Given the description of an element on the screen output the (x, y) to click on. 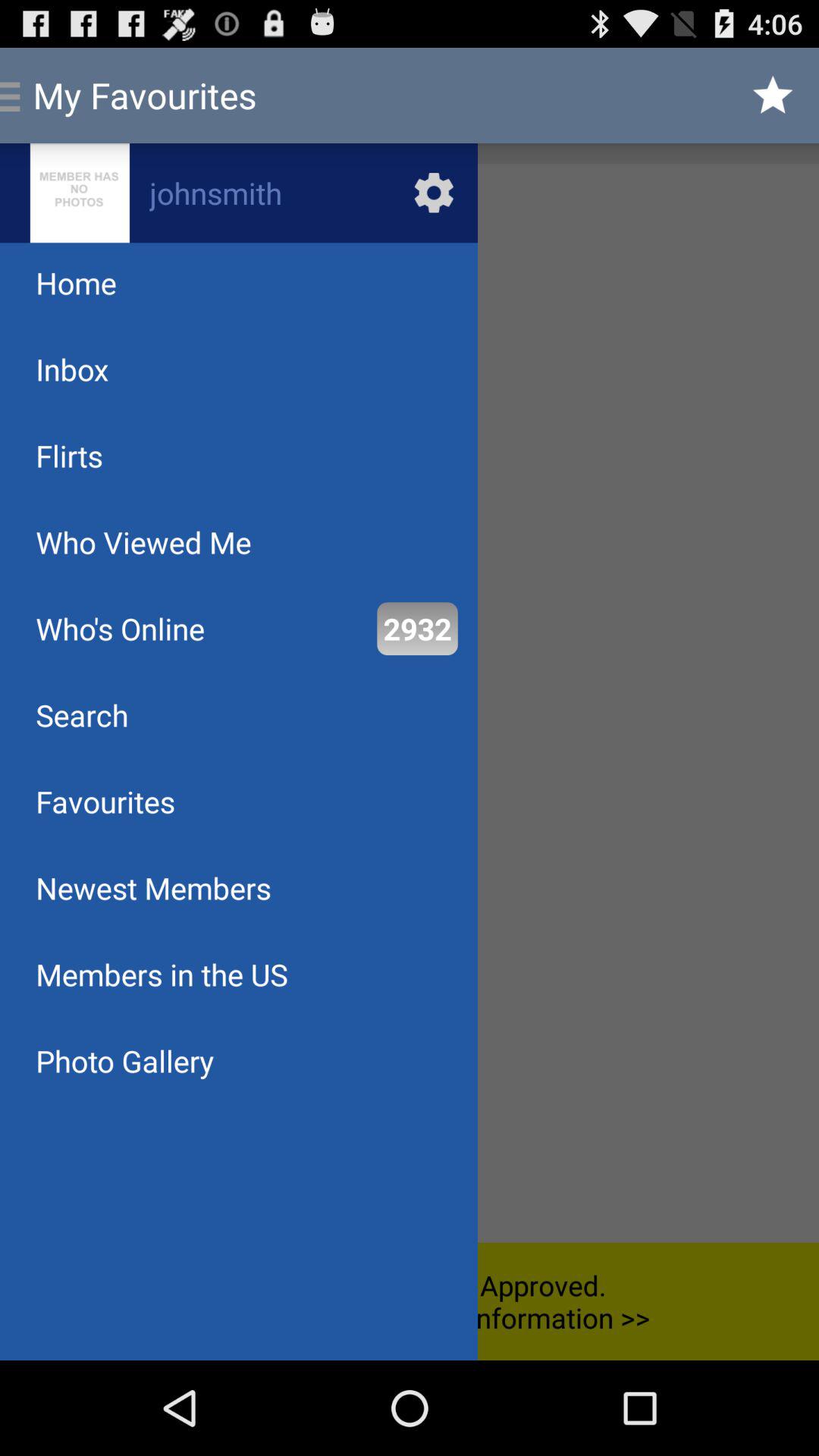
flip until the search icon (81, 715)
